Given the description of an element on the screen output the (x, y) to click on. 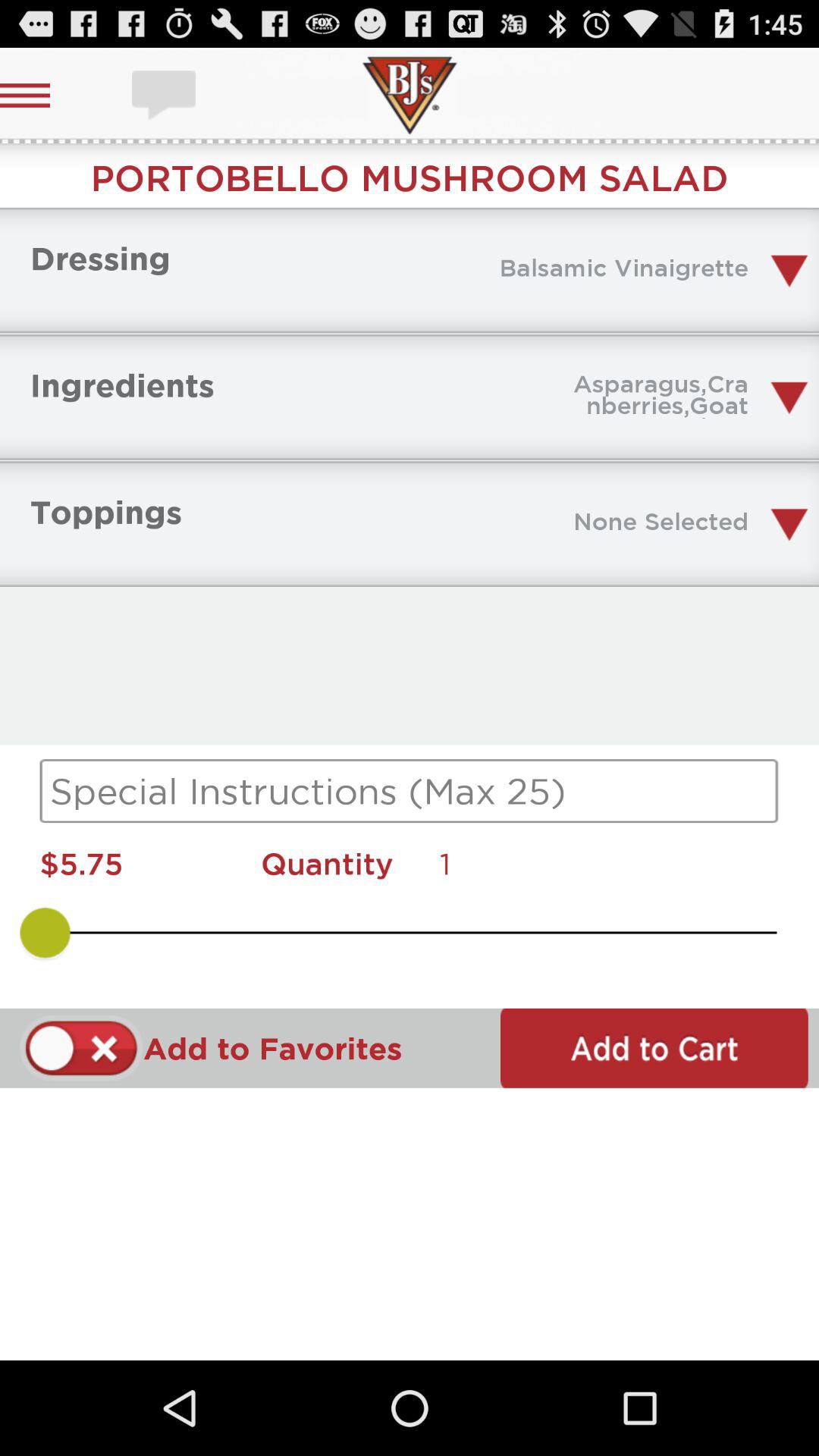
add special instructions (409, 790)
